Given the description of an element on the screen output the (x, y) to click on. 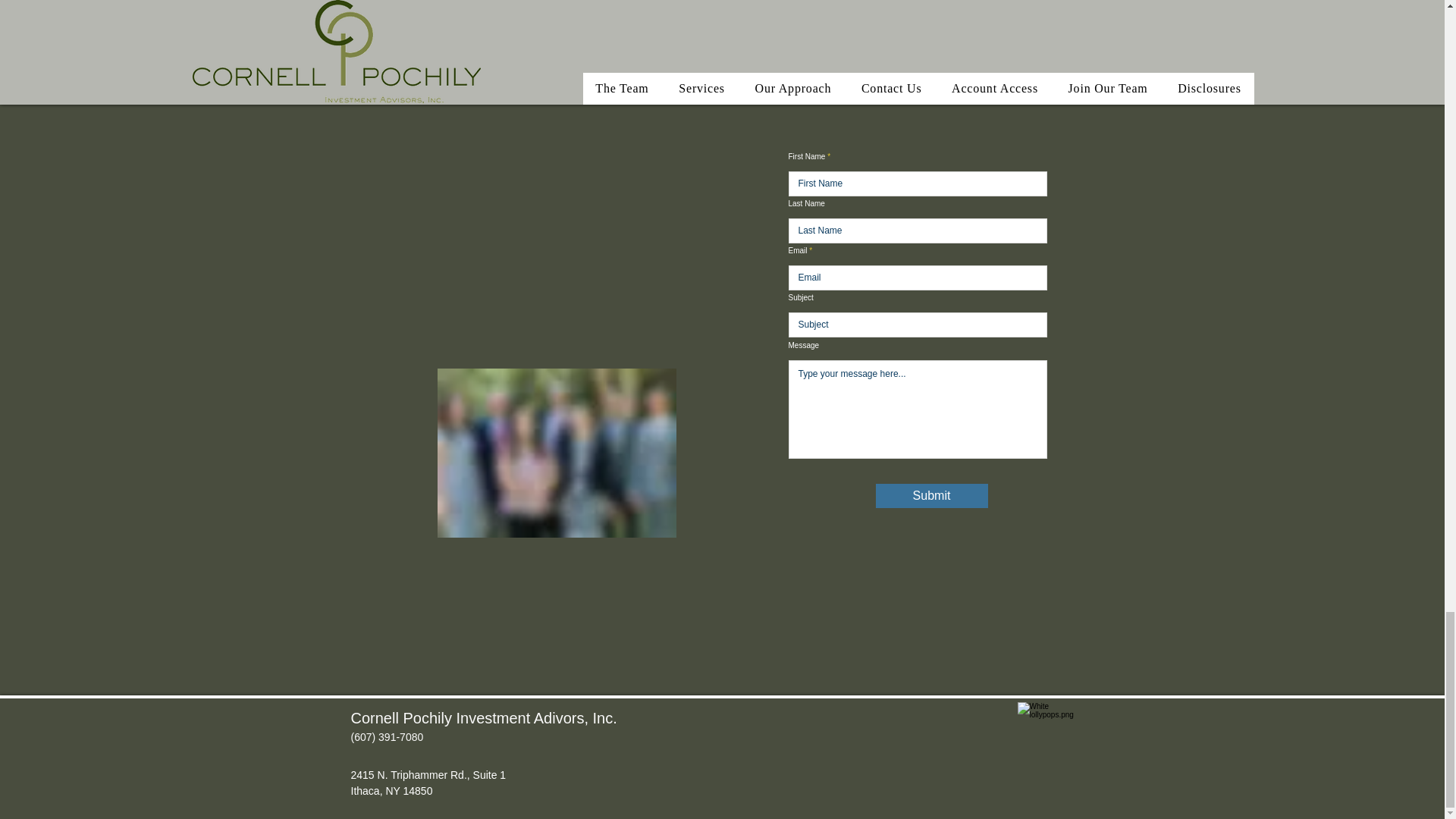
Submit (931, 495)
